Given the description of an element on the screen output the (x, y) to click on. 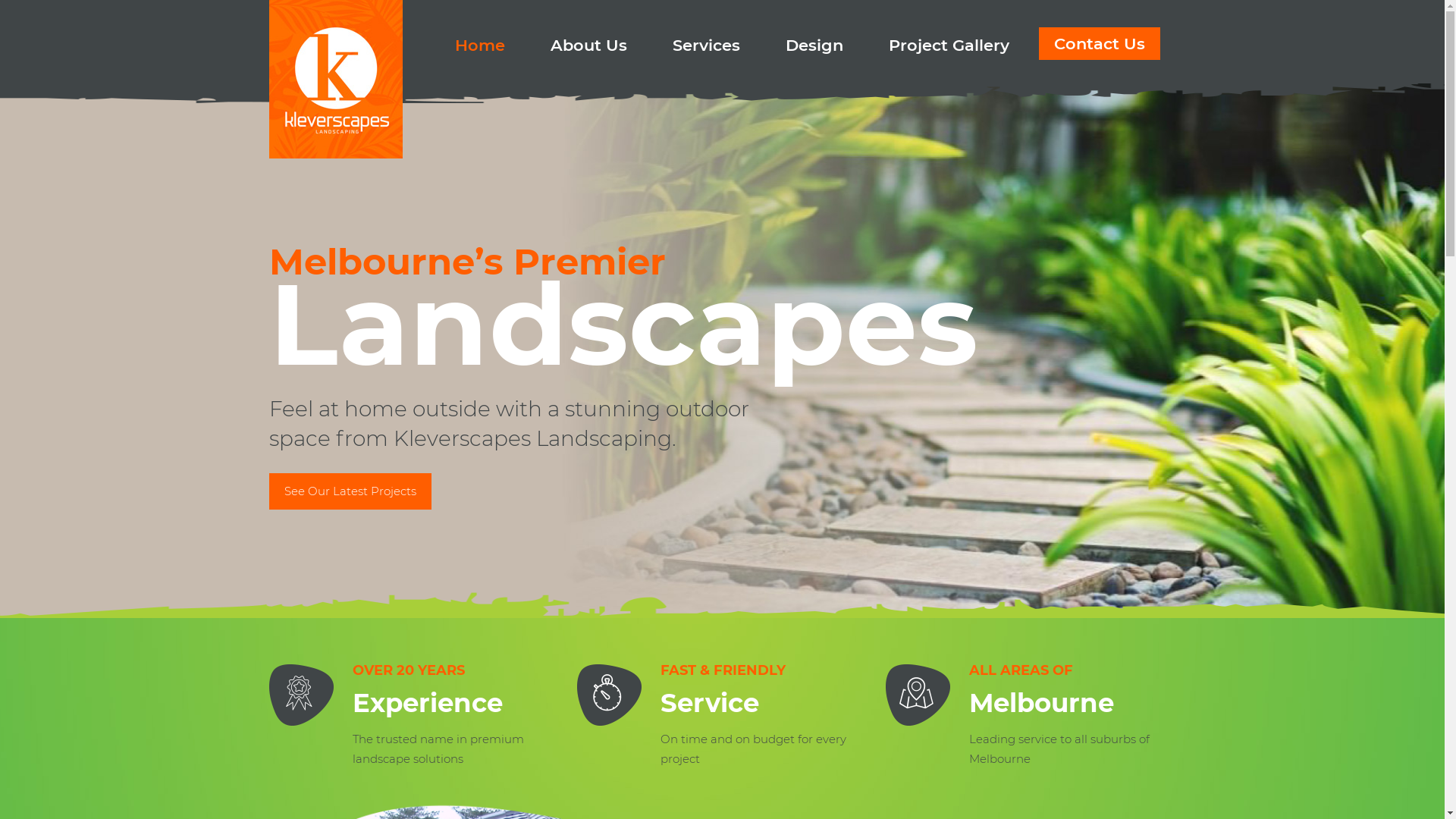
About Us Element type: text (588, 34)
kleverscapes@outlook.com.au Element type: text (745, 652)
Kleverscapes Element type: hover (335, 79)
Services Element type: text (705, 34)
Logomonsta Element type: text (543, 788)
Contact Us Element type: text (1099, 43)
Design Element type: text (814, 34)
Home Element type: text (479, 34)
See Our Latest Projects Element type: text (350, 491)
Project Gallery Element type: text (949, 34)
